Given the description of an element on the screen output the (x, y) to click on. 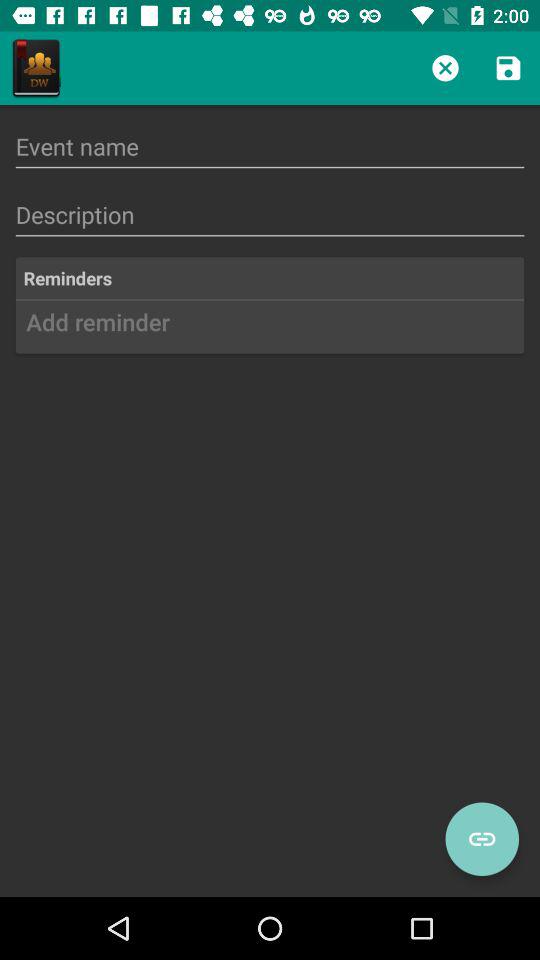
enter description of event (269, 214)
